Given the description of an element on the screen output the (x, y) to click on. 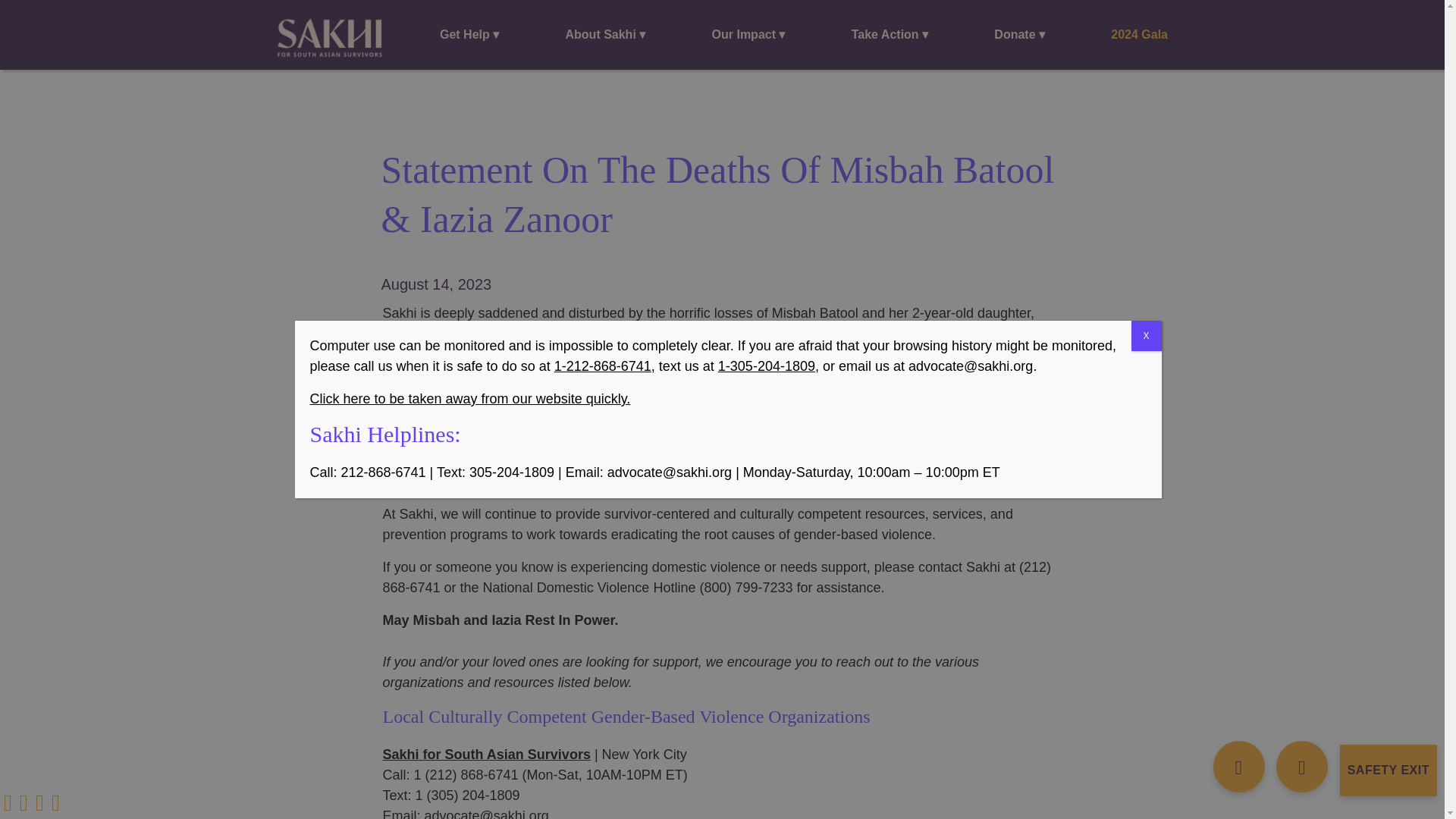
Our Impact (748, 34)
Take Action (889, 34)
Get Help (469, 34)
About Sakhi (605, 34)
Sakhi for South Asian Survivors (330, 37)
